Given the description of an element on the screen output the (x, y) to click on. 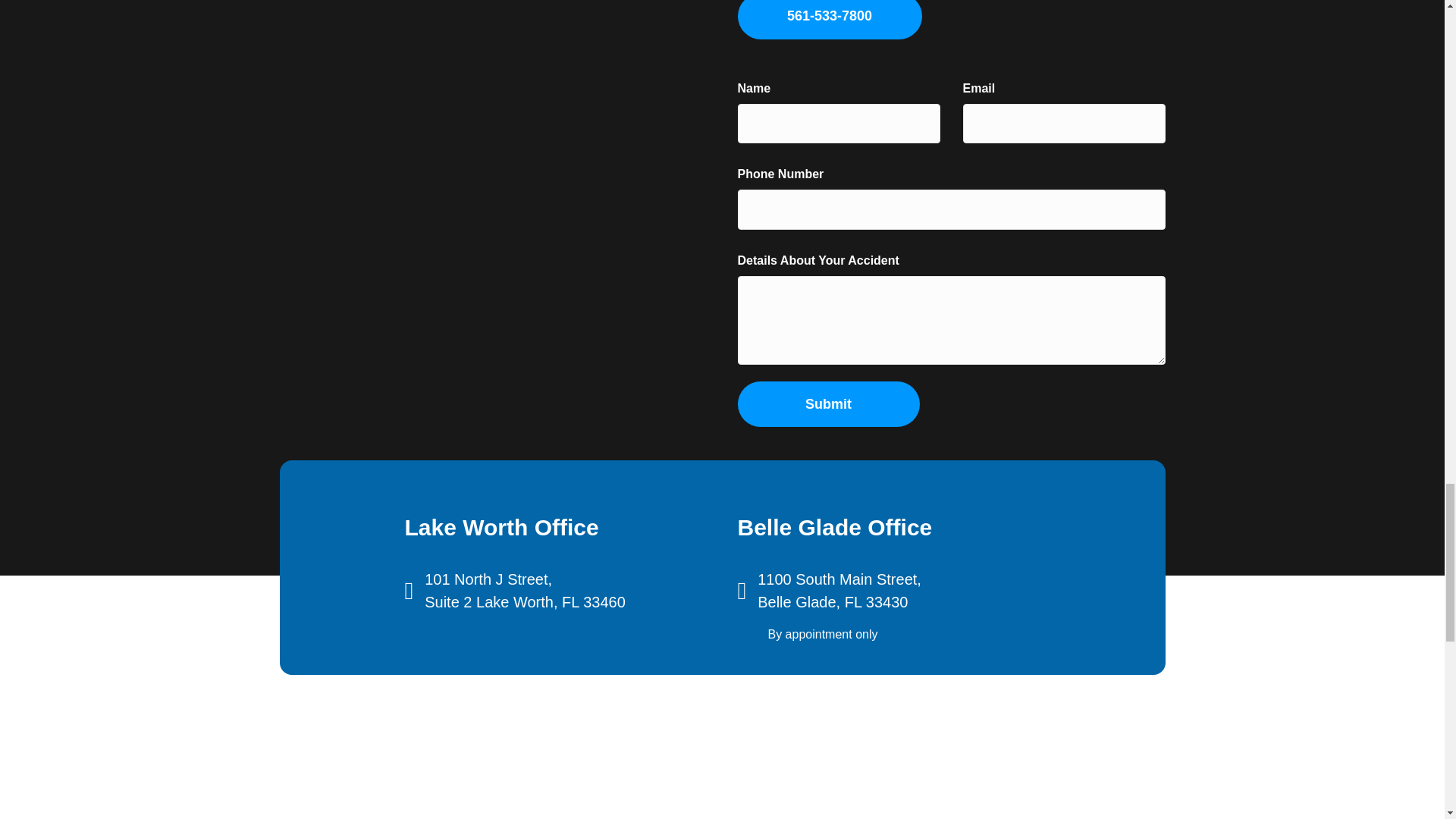
Submit (827, 403)
